Given the description of an element on the screen output the (x, y) to click on. 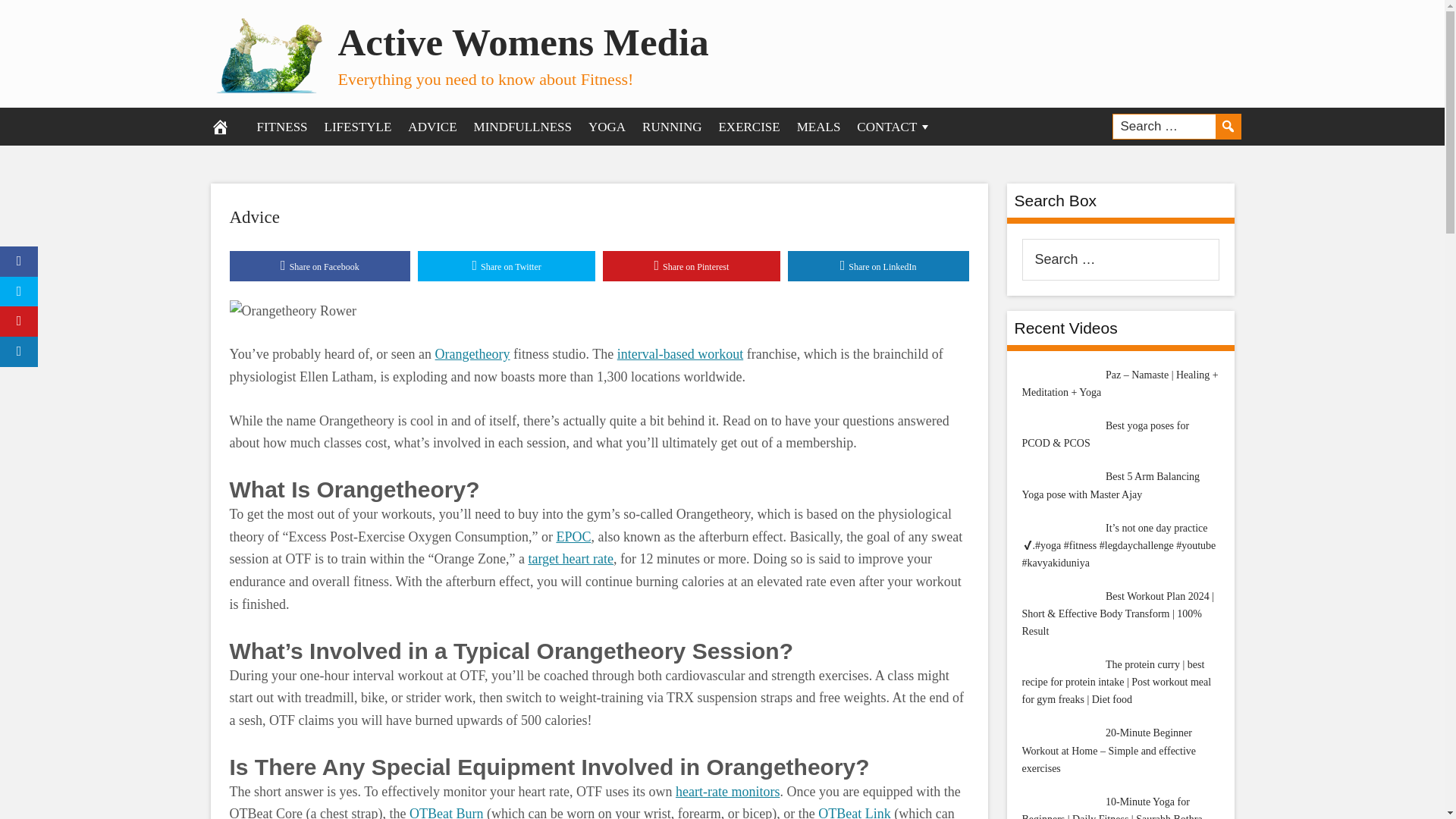
MEALS (818, 126)
FITNESS (281, 126)
EXERCISE (748, 126)
Active Womens Media (523, 42)
CONTACT (894, 126)
ADVICE (431, 126)
MINDFULLNESS (522, 126)
YOGA (606, 126)
LIFESTYLE (357, 126)
